Given the description of an element on the screen output the (x, y) to click on. 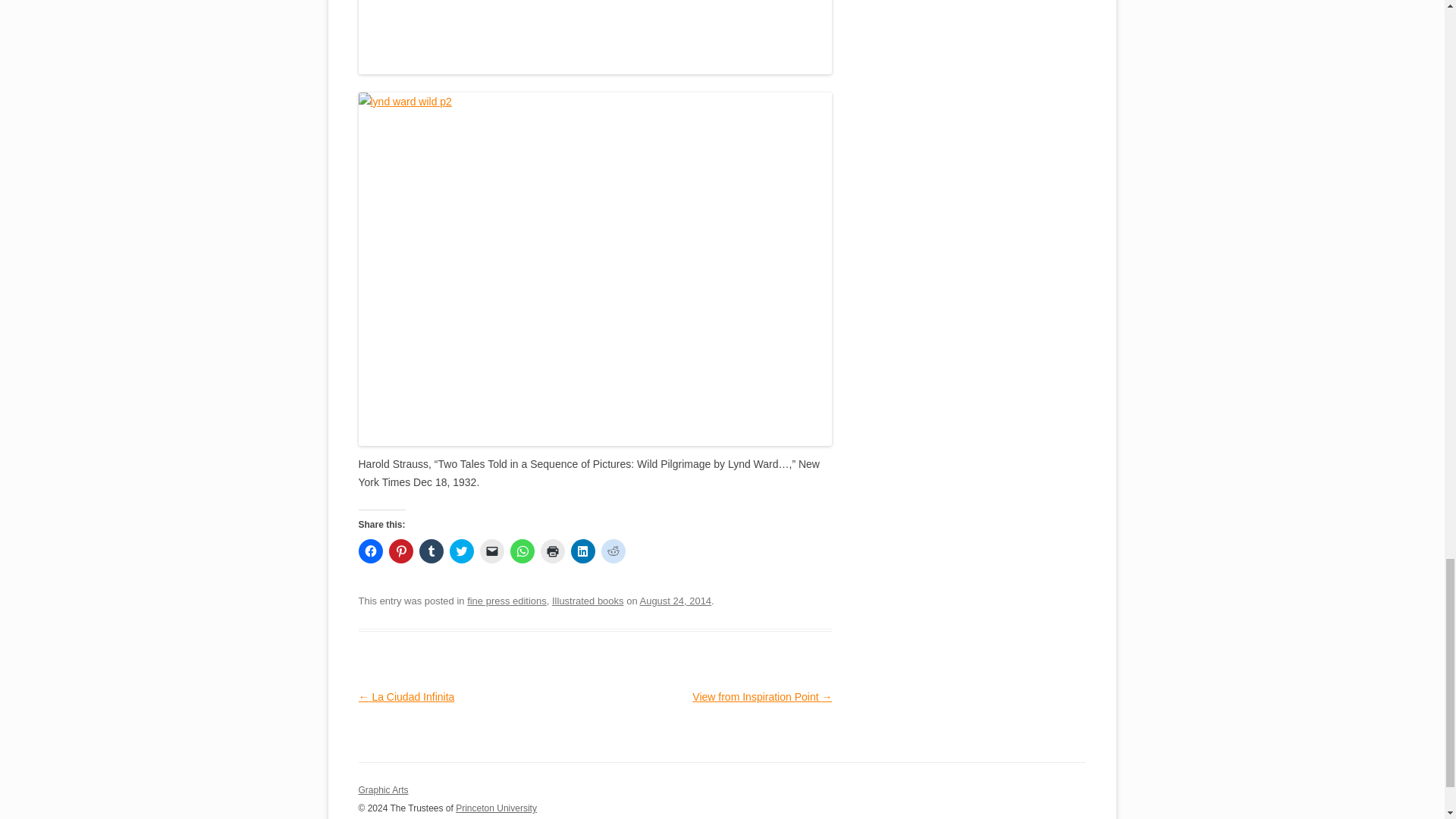
Click to share on WhatsApp (521, 550)
Click to share on Twitter (460, 550)
Click to share on Facebook (369, 550)
August 24, 2014 (675, 600)
Click to email a link to a friend (491, 550)
Princeton University (1030, 797)
Illustrated books (587, 600)
Click to print (552, 550)
fine press editions (507, 600)
Click to share on LinkedIn (582, 550)
